Given the description of an element on the screen output the (x, y) to click on. 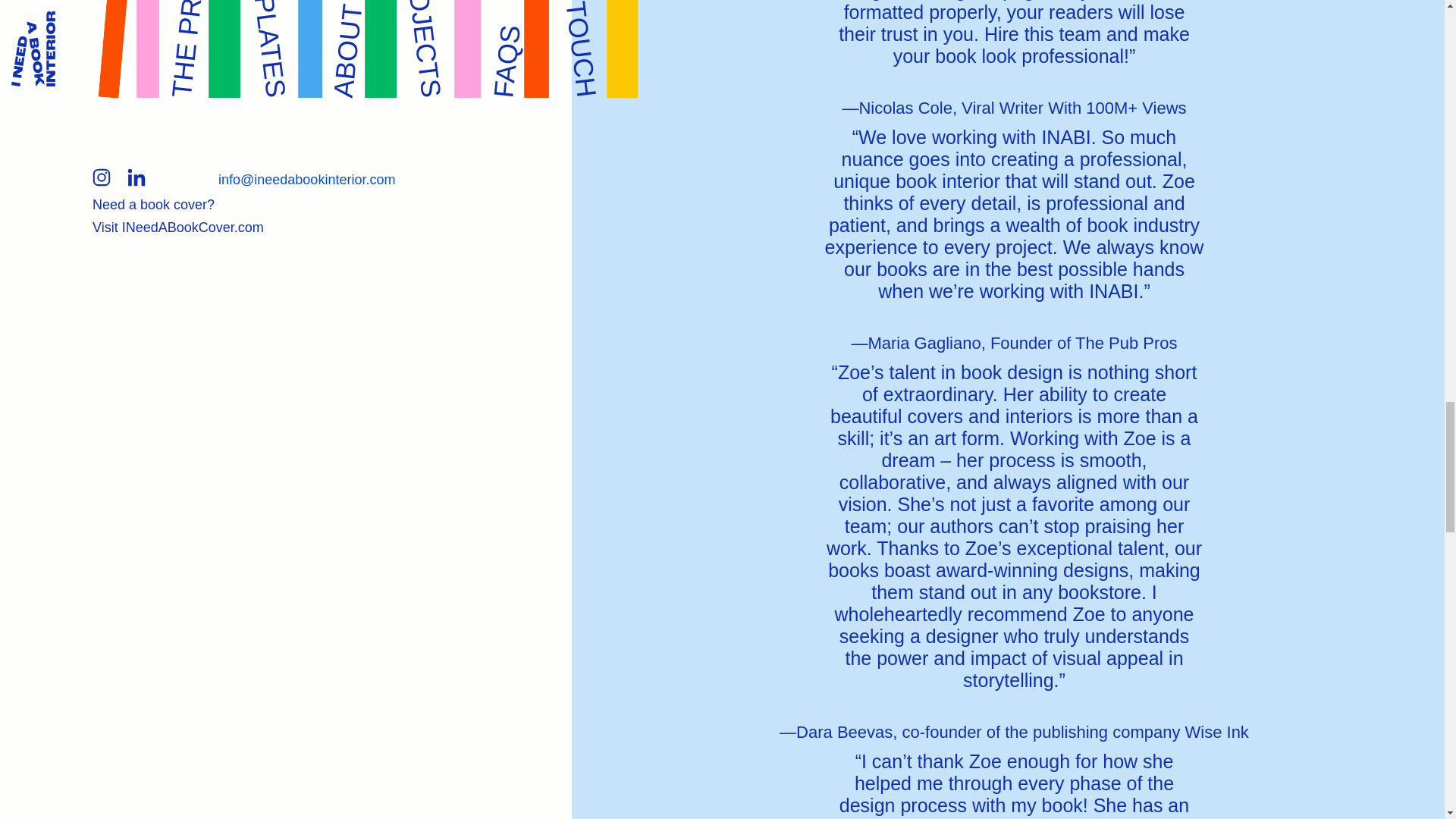
INeedABookCover.com (192, 227)
Instagram link opens in new tab (101, 180)
inline-icon-linked (136, 177)
inline-icon-insta (101, 177)
FAQS (525, 36)
ABOUT (376, 15)
inline-icon-linked (136, 180)
inline-icon-insta (101, 180)
